Given the description of an element on the screen output the (x, y) to click on. 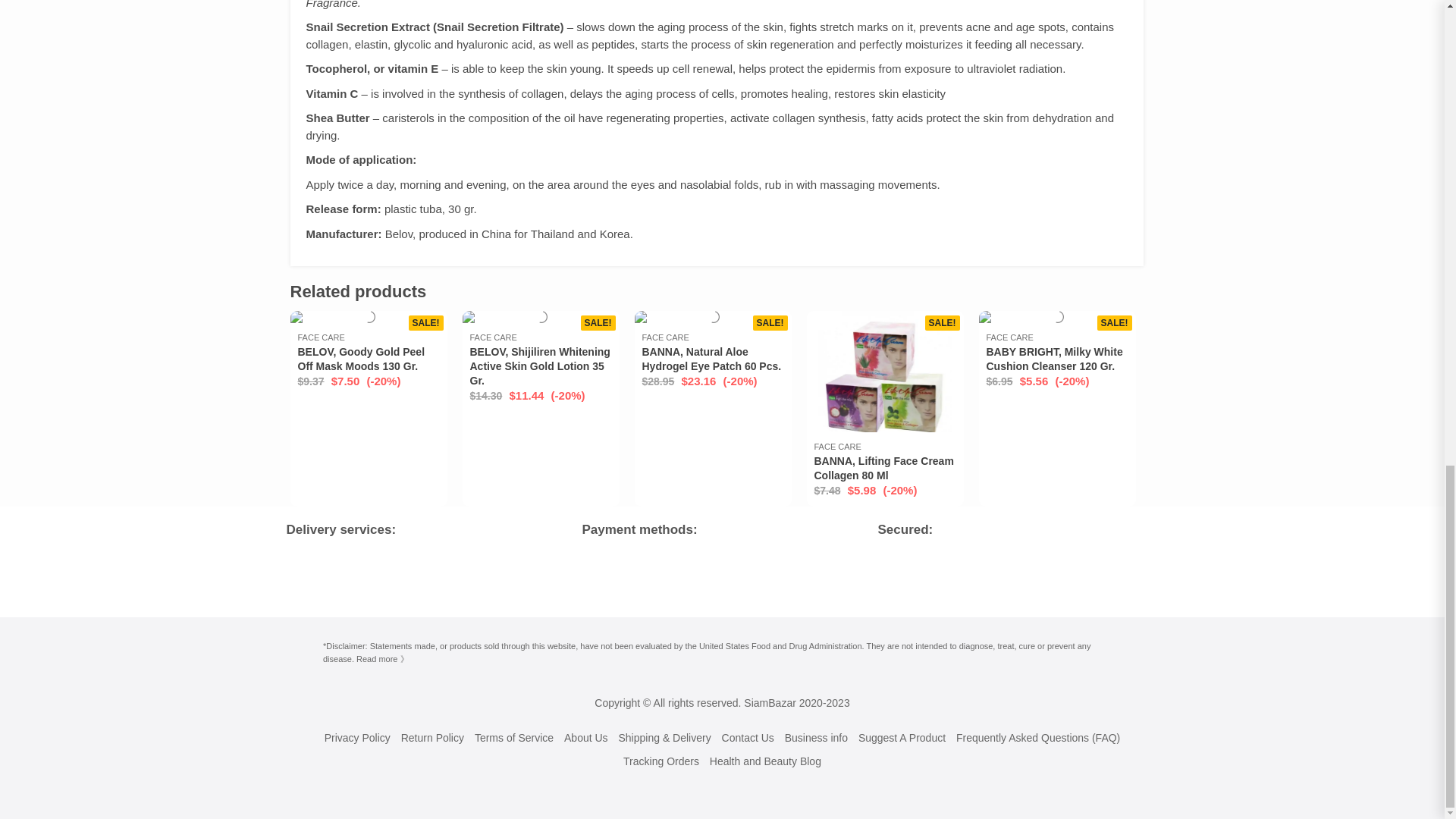
FACE CARE (493, 337)
FACE CARE (320, 337)
BANNA, Natural Aloe Hydrogel Eye Patch 60 Pcs. (711, 358)
BANNA, Lifting Face Cream Collagen 80 Ml (883, 468)
BABY BRIGHT, Milky White Cushion Cleanser 120 Gr. (1053, 358)
BELOV, Goody Gold Peel Off Mask Moods 130 Gr. (361, 358)
FACE CARE (837, 446)
BELOV, Shijiliren Whitening Active Skin Gold Lotion 35 Gr. (540, 365)
FACE CARE (1008, 337)
FACE CARE (665, 337)
